Given the description of an element on the screen output the (x, y) to click on. 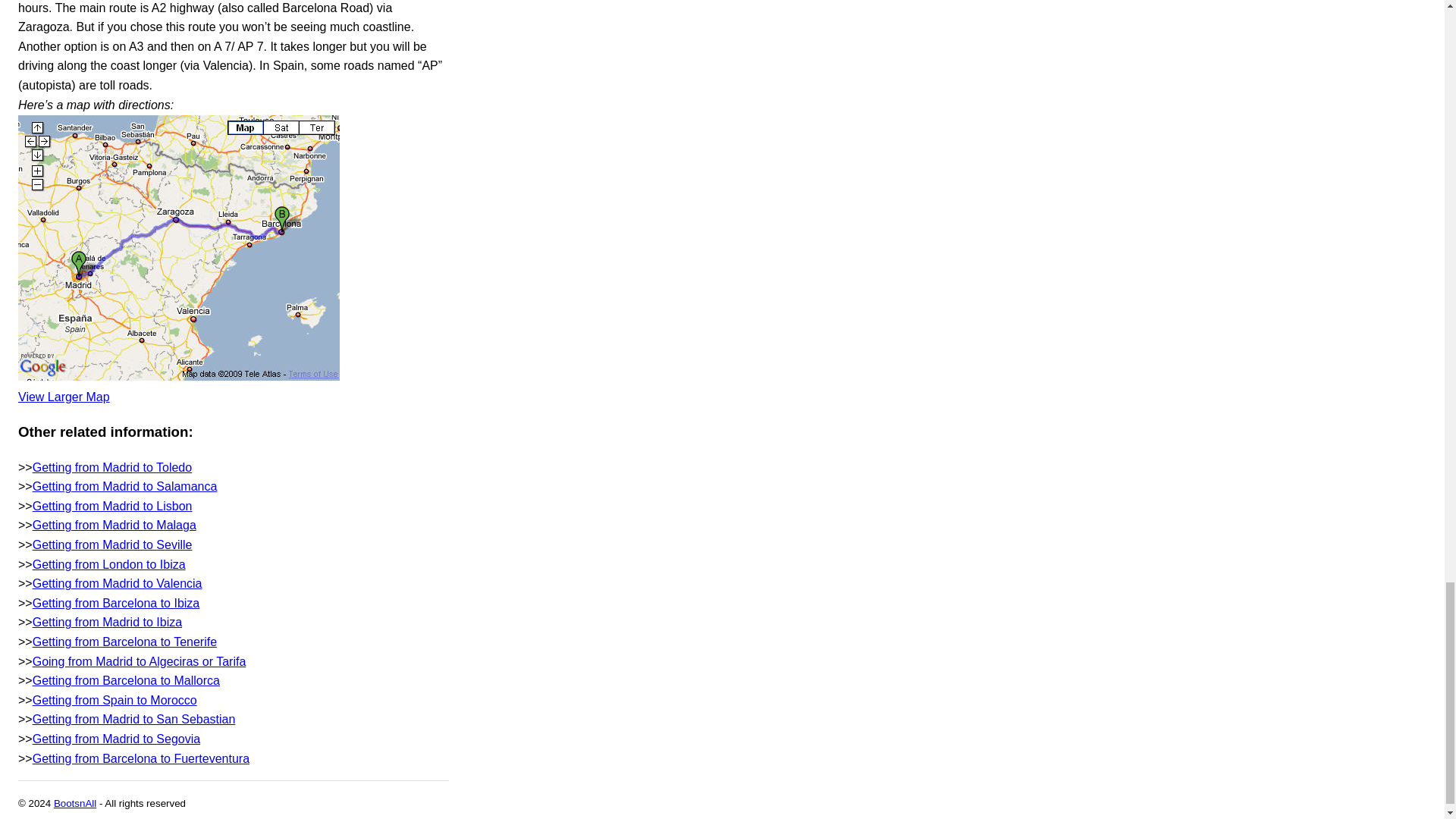
Getting from Barcelona to Tenerife (124, 641)
Getting from Madrid to Lisbon (112, 505)
Getting from Madrid to Toledo (112, 467)
Getting from Barcelona to Fuerteventura (140, 758)
Getting from Madrid to Ibiza (107, 621)
Getting from Madrid to Seville (112, 544)
Getting from Madrid to Valencia (117, 583)
Going from Madrid to Algeciras or Tarifa (139, 661)
Getting from Madrid to San Sebastian (133, 718)
Getting from Barcelona to Ibiza (116, 603)
Getting from Madrid to Malaga (114, 524)
Getting from Spain to Morocco (114, 699)
View Larger Map (63, 396)
Getting from London to Ibiza (109, 563)
Getting from Barcelona to Mallorca (125, 680)
